Given the description of an element on the screen output the (x, y) to click on. 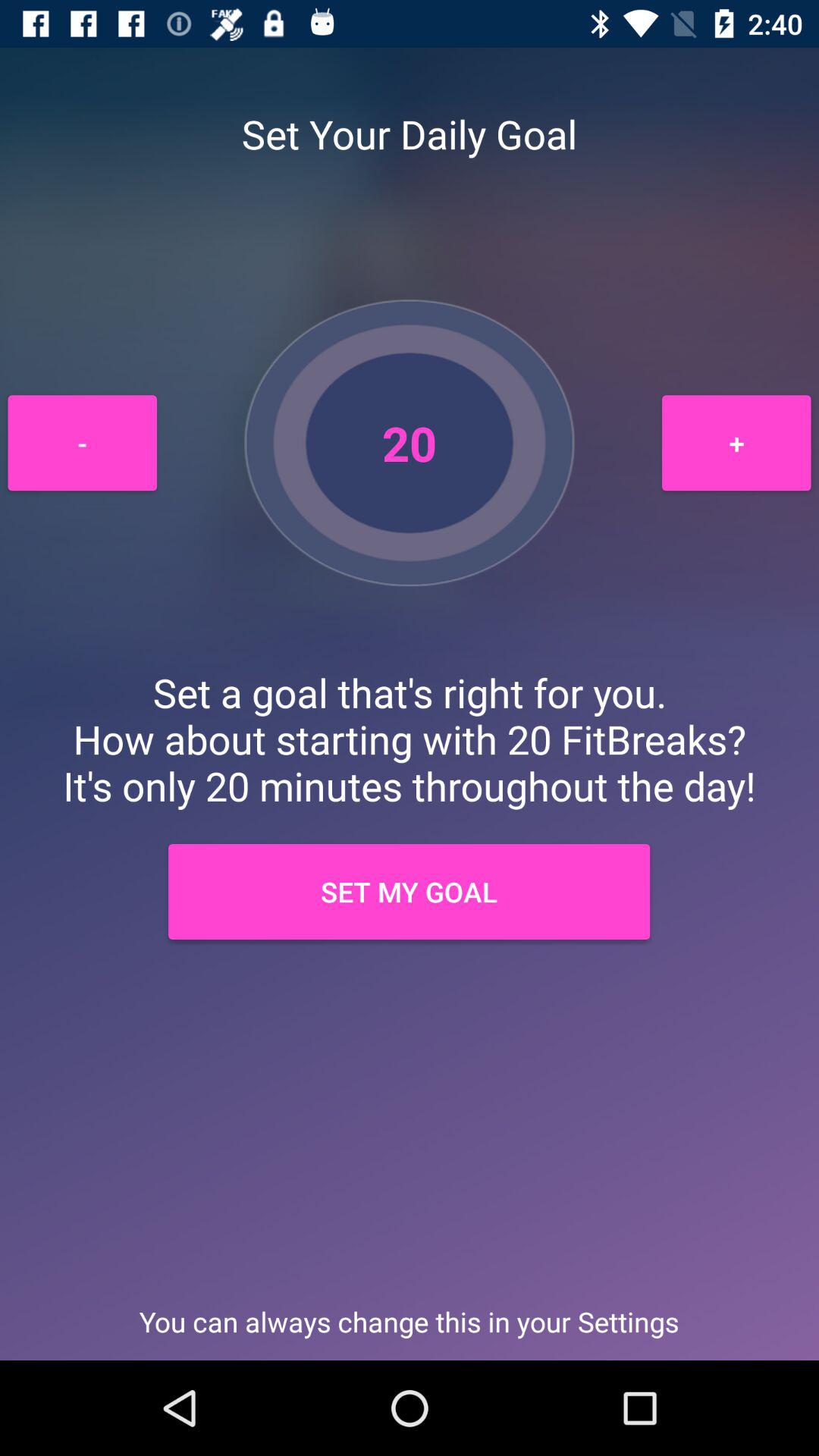
turn on the icon next to the 20 item (736, 442)
